Given the description of an element on the screen output the (x, y) to click on. 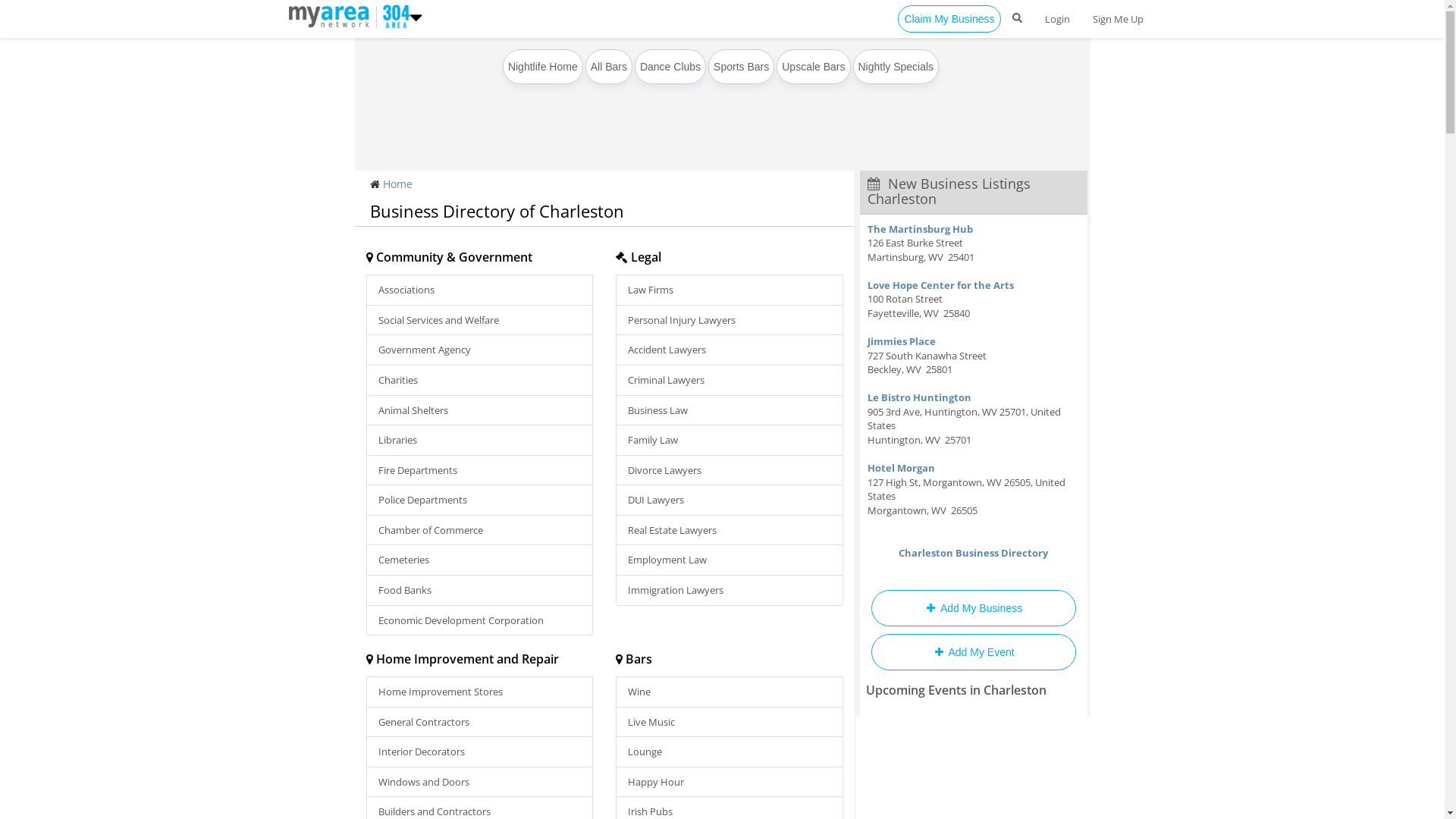
Charities Element type: text (479, 379)
Business Law Element type: text (729, 410)
All Bars Element type: text (608, 66)
Windows and Doors Element type: text (479, 781)
The Martinsburg Hub Element type: text (919, 228)
Associations Element type: text (479, 289)
Happy Hour Element type: text (729, 781)
Claim My Business Element type: text (948, 18)
Jimmies Place Element type: text (901, 341)
Social Services and Welfare Element type: text (479, 319)
Home Improvement and Repair Element type: text (461, 658)
Login Element type: text (1056, 18)
Hotel Morgan Element type: text (901, 467)
Live Music Element type: text (729, 721)
Lounge Element type: text (729, 751)
Fire Departments Element type: text (479, 470)
Sign Me Up Element type: text (1117, 18)
Criminal Lawyers Element type: text (729, 379)
Police Departments Element type: text (479, 499)
Food Banks Element type: text (479, 589)
Chamber of Commerce Element type: text (479, 530)
Accident Lawyers Element type: text (729, 349)
Upscale Bars Element type: text (813, 66)
Home Improvement Stores Element type: text (479, 691)
Animal Shelters Element type: text (479, 410)
DUI Lawyers Element type: text (729, 499)
Economic Development Corporation Element type: text (479, 620)
https://www.304area.com Element type: hover (332, 15)
Bars Element type: text (633, 658)
Cemeteries Element type: text (479, 559)
Real Estate Lawyers Element type: text (729, 530)
Government Agency Element type: text (479, 349)
Nightlife Home Element type: text (542, 66)
Wine Element type: text (729, 691)
Law Firms Element type: text (729, 289)
Upcoming Events in Charleston Element type: text (956, 689)
Employment Law Element type: text (729, 559)
Sports Bars Element type: text (741, 66)
Legal Element type: text (638, 256)
Home Element type: text (396, 183)
Add My Business Element type: text (972, 607)
General Contractors Element type: text (479, 721)
Interior Decorators Element type: text (479, 751)
Dance Clubs Element type: text (670, 66)
Add My Event Element type: text (972, 651)
Community & Government Element type: text (448, 256)
Charleston Business Directory Element type: text (973, 552)
Personal Injury Lawyers Element type: text (729, 319)
https://www.304area.com Element type: hover (392, 15)
Divorce Lawyers Element type: text (729, 470)
Immigration Lawyers Element type: text (729, 589)
Family Law Element type: text (729, 439)
Libraries Element type: text (479, 439)
Le Bistro Huntington Element type: text (919, 397)
Nightly Specials Element type: text (895, 66)
Love Hope Center for the Arts Element type: text (940, 284)
